Given the description of an element on the screen output the (x, y) to click on. 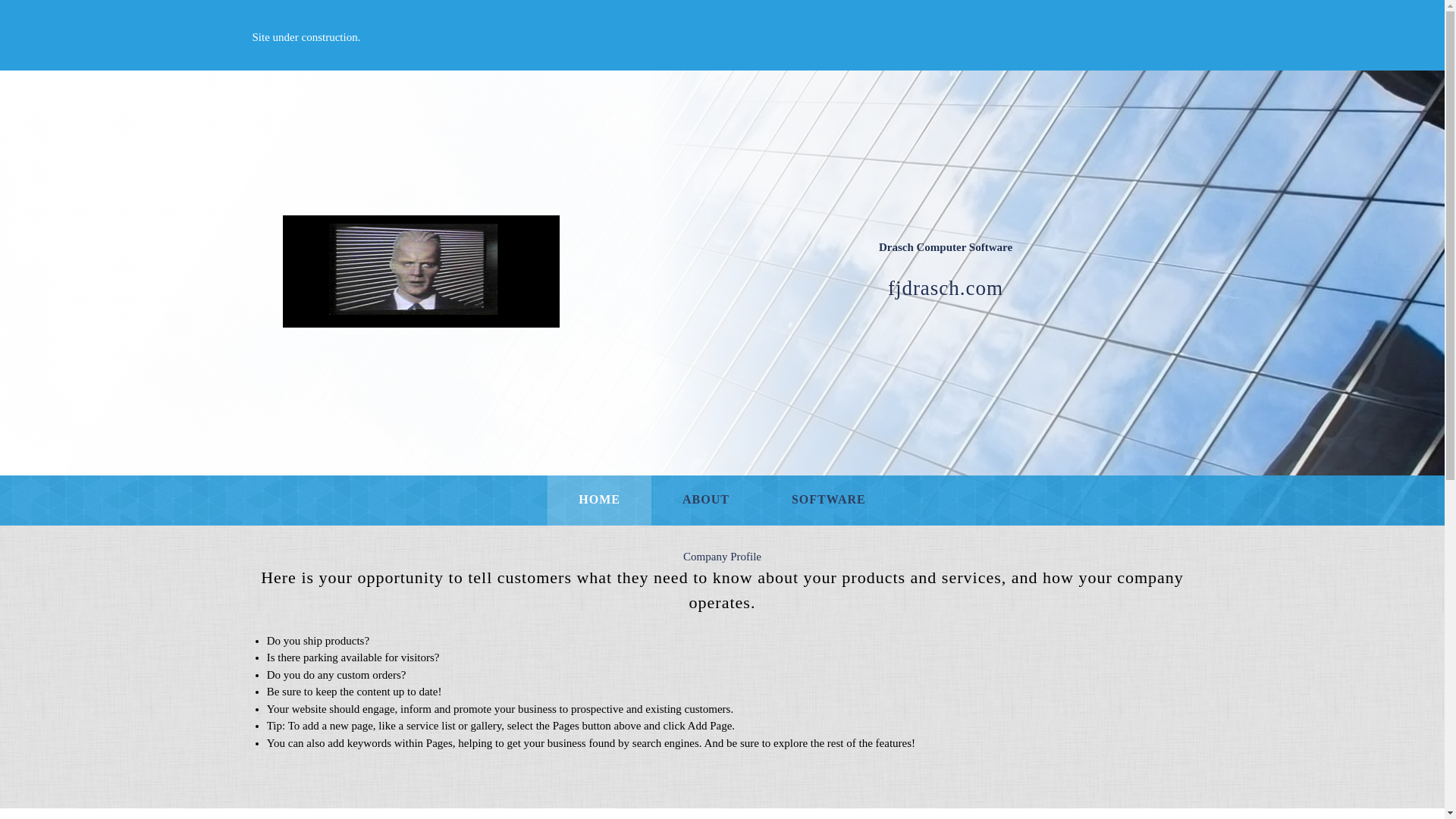
SOFTWARE (828, 499)
HOME (598, 499)
ABOUT (705, 499)
About Us (705, 499)
Services (828, 499)
Main (598, 499)
Go to site home page (420, 271)
